Given the description of an element on the screen output the (x, y) to click on. 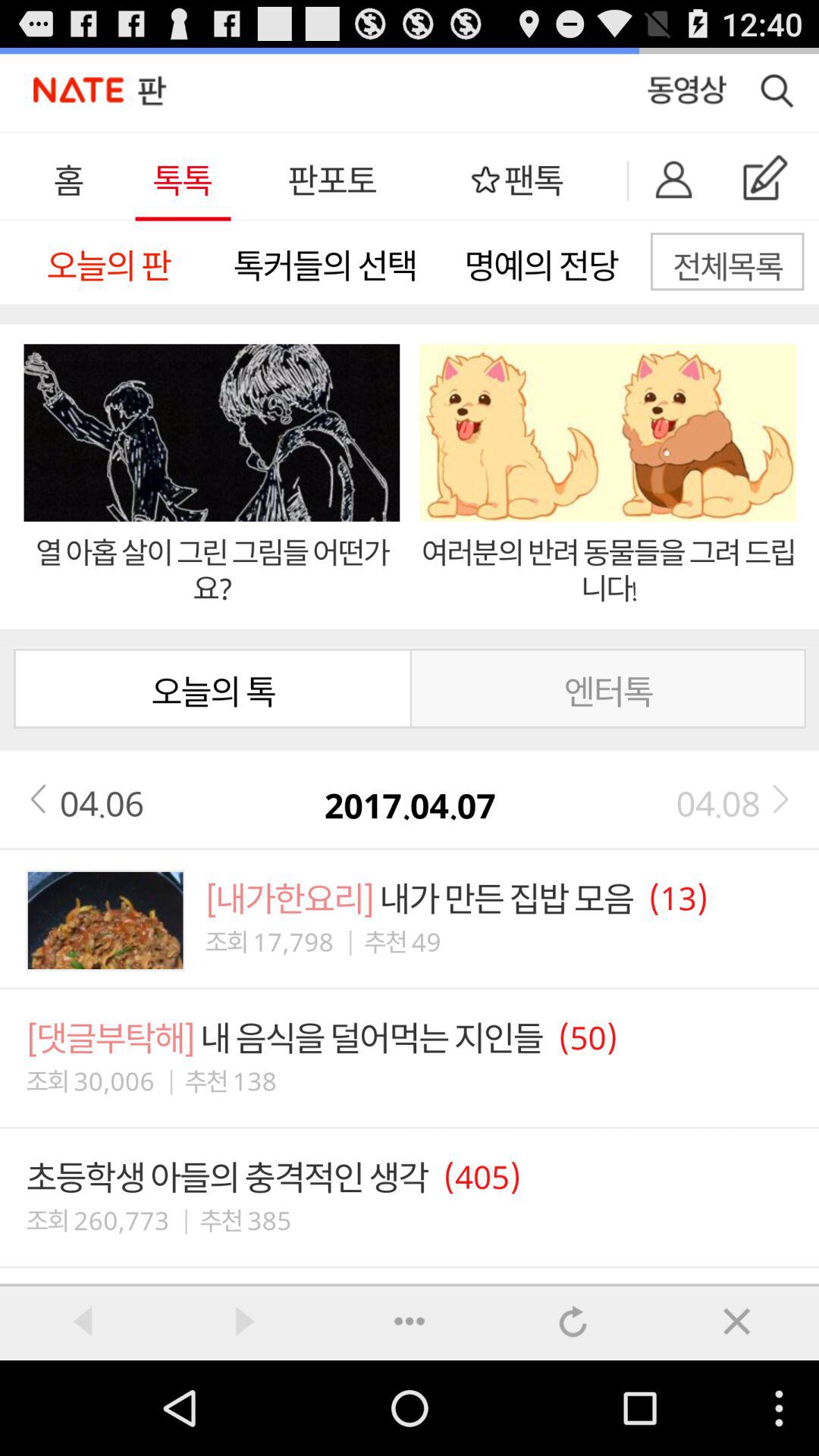
click to the more details (409, 1320)
